Given the description of an element on the screen output the (x, y) to click on. 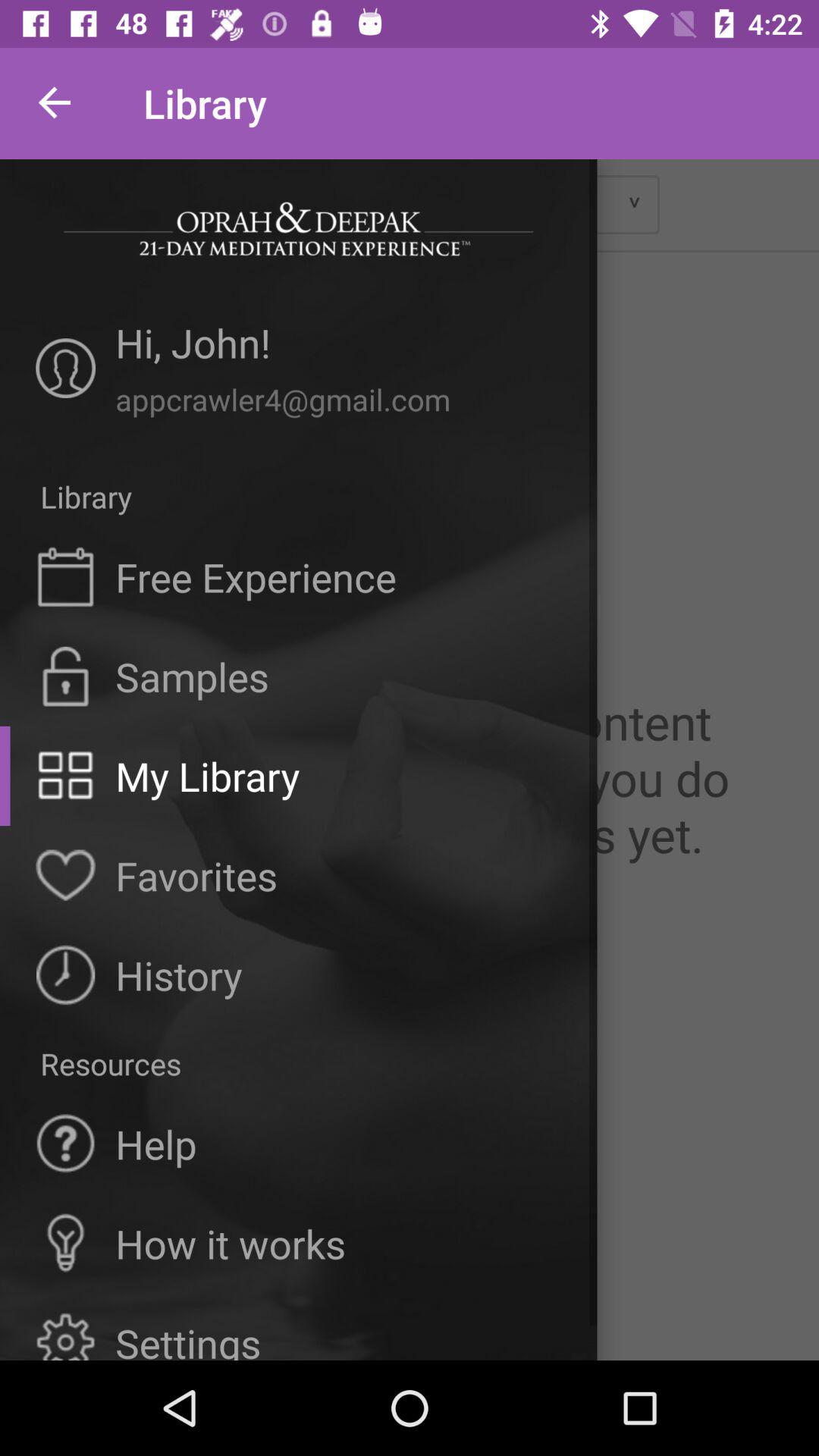
launch the icon above how it works (155, 1143)
